Given the description of an element on the screen output the (x, y) to click on. 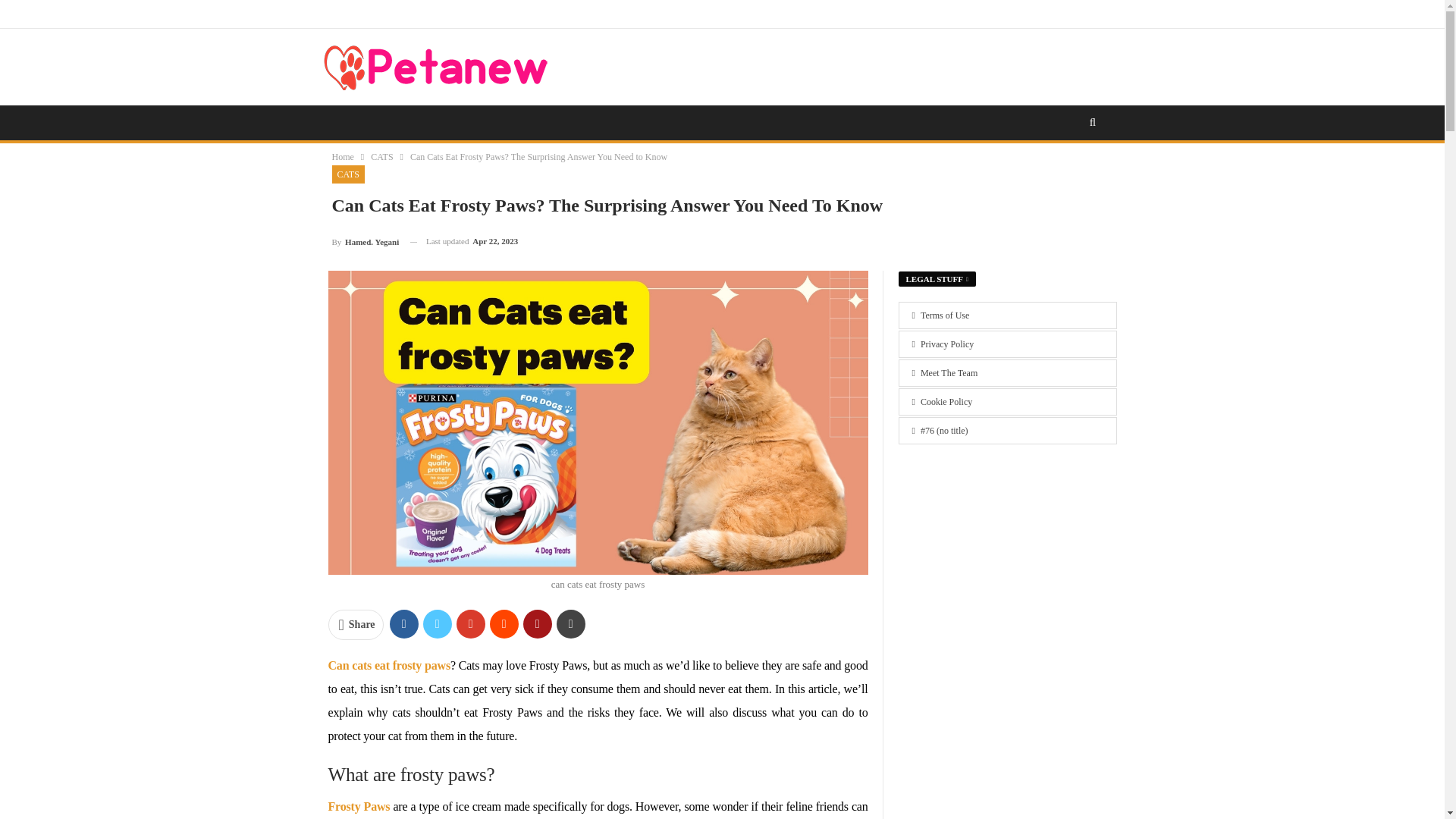
Frosty Paws (358, 806)
Browse Author Articles (364, 240)
Home (342, 156)
Can cats eat frosty paws (388, 665)
By Hamed. Yegani (364, 240)
CATS (348, 174)
CATS (382, 156)
